Given the description of an element on the screen output the (x, y) to click on. 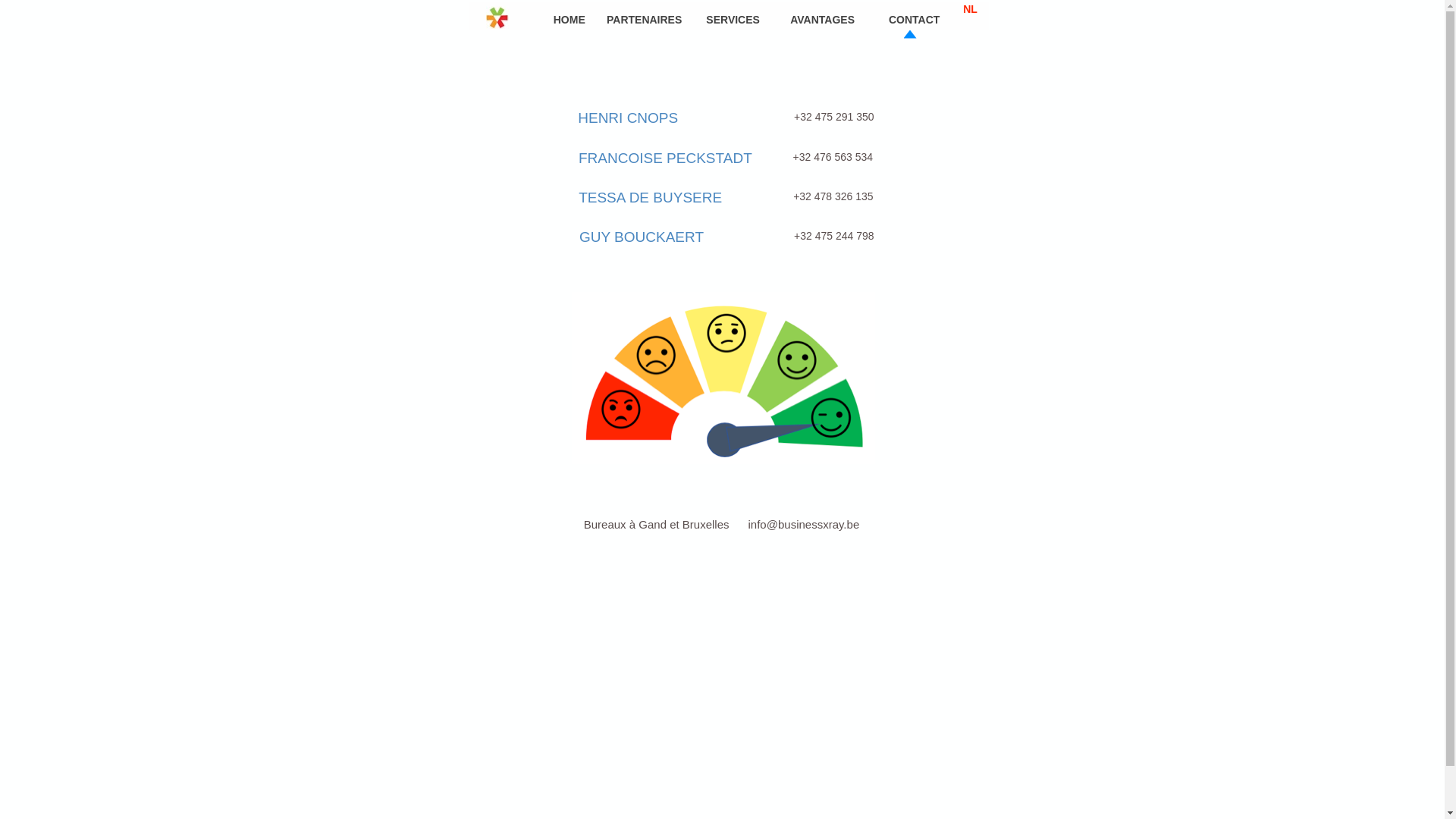
AVANTAGES Element type: text (822, 19)
SERVICES Element type: text (732, 19)
PARTENAIRES Element type: text (643, 19)
NL Element type: text (970, 9)
CONTACT Element type: text (913, 19)
HOME Element type: text (569, 19)
